Given the description of an element on the screen output the (x, y) to click on. 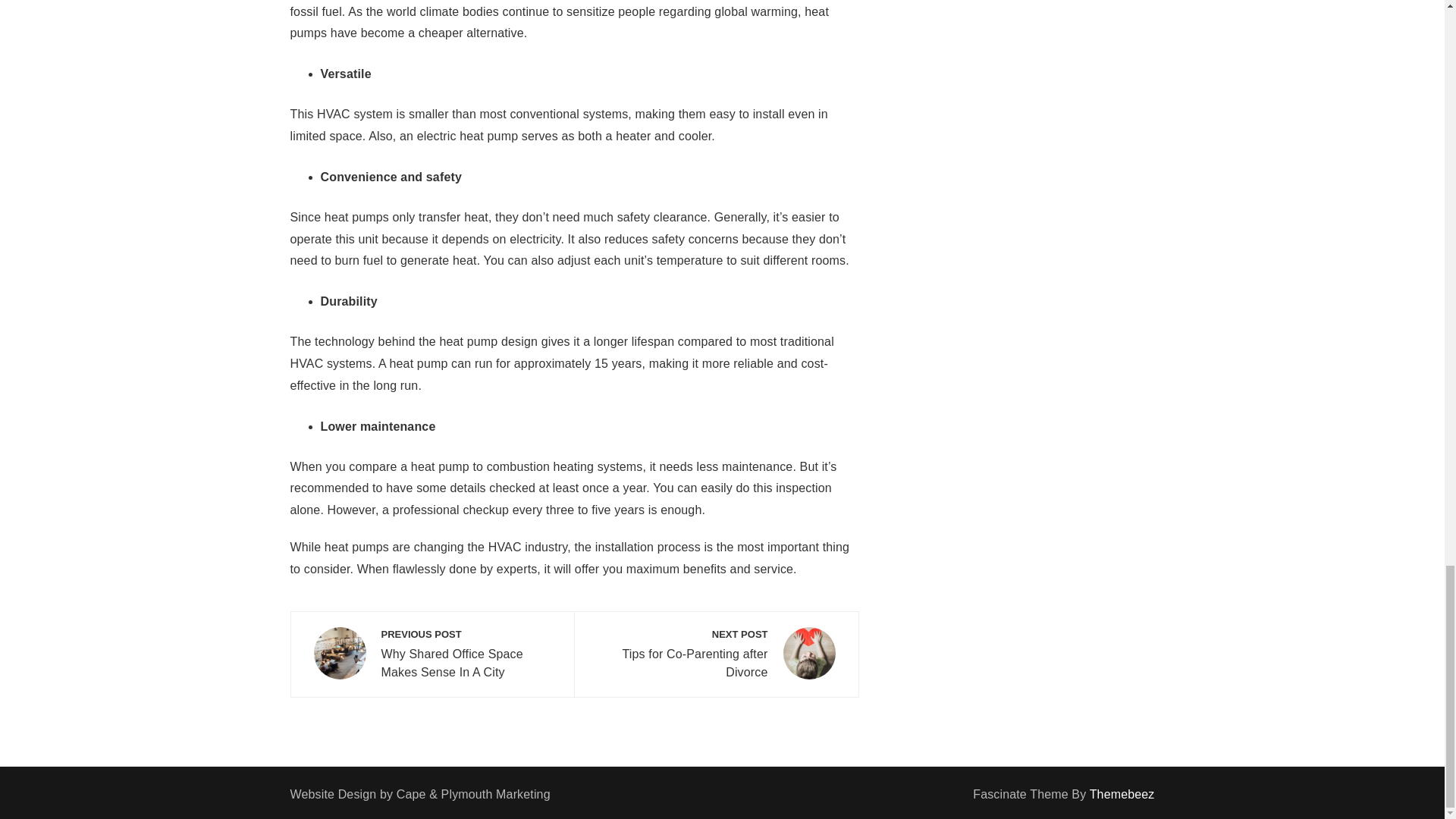
Themebeez (715, 654)
